Given the description of an element on the screen output the (x, y) to click on. 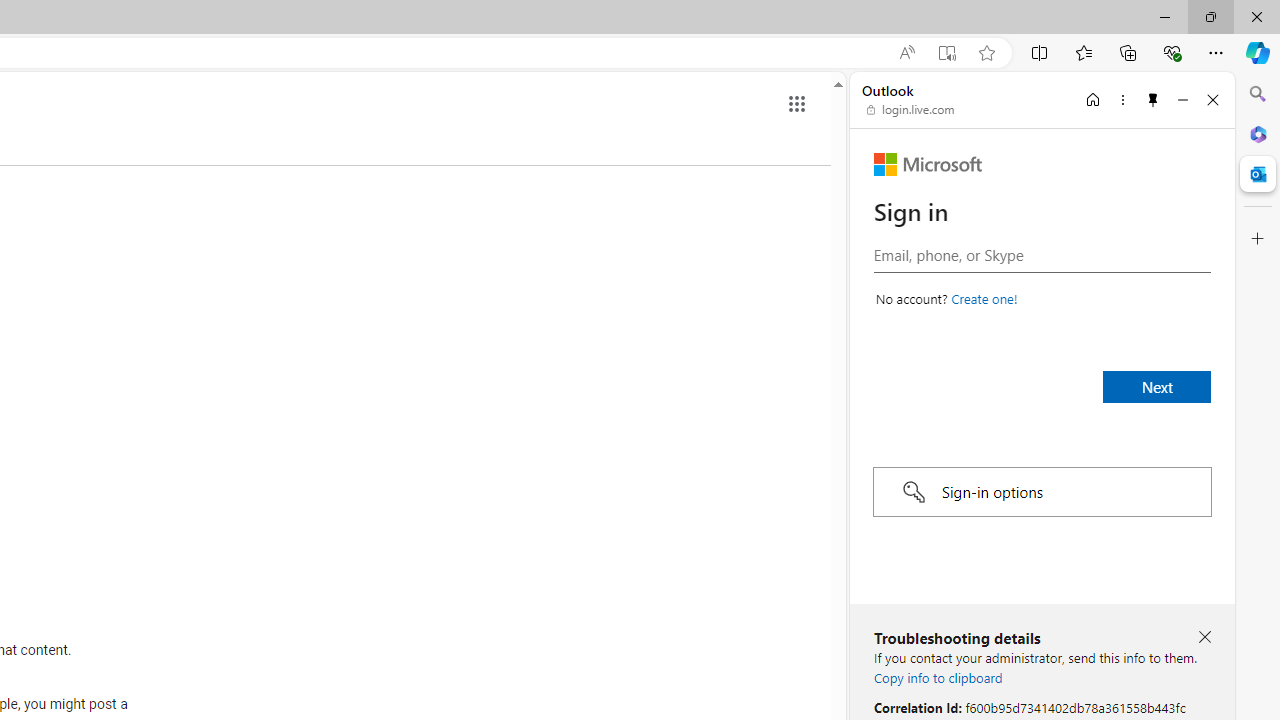
Close troubleshooting details (1204, 637)
Enter your email, phone, or Skype. (1042, 254)
Unpin side pane (1153, 99)
Copy info to clipboard (938, 677)
More options (1122, 99)
Next (1156, 386)
